Given the description of an element on the screen output the (x, y) to click on. 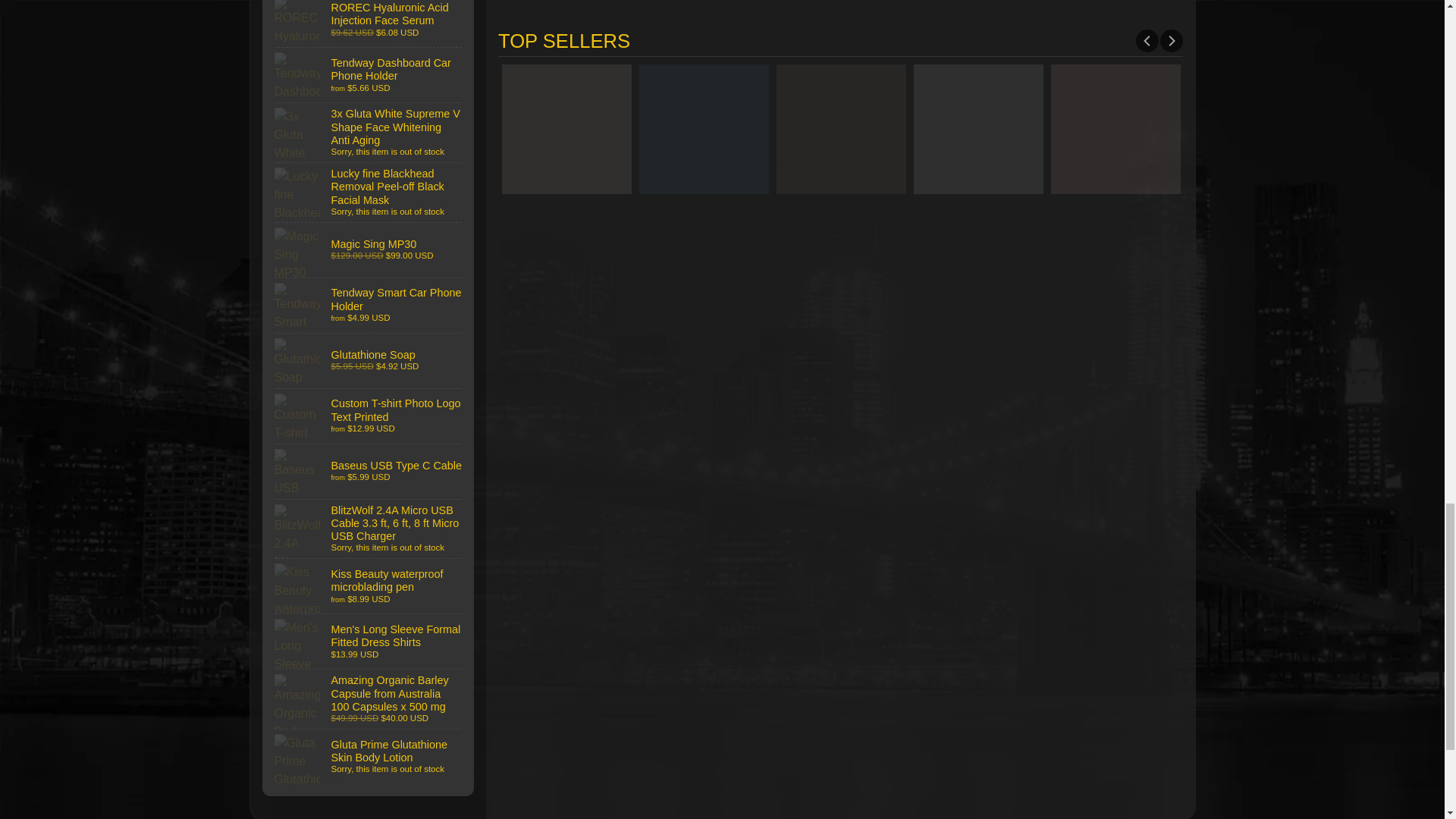
Custom T-shirt Photo Logo Text Printed (369, 416)
Lucky fine Blackhead Removal Peel-off Black Facial Mask (369, 191)
TOP SELLERS (839, 41)
Baseus USB Type C Cable (369, 471)
Glutathione Soap (369, 360)
ROREC Hyaluronic Acid Injection Face Serum (369, 23)
Magic Sing MP30 (369, 249)
Tendway Smart Car Phone Holder (369, 305)
